Given the description of an element on the screen output the (x, y) to click on. 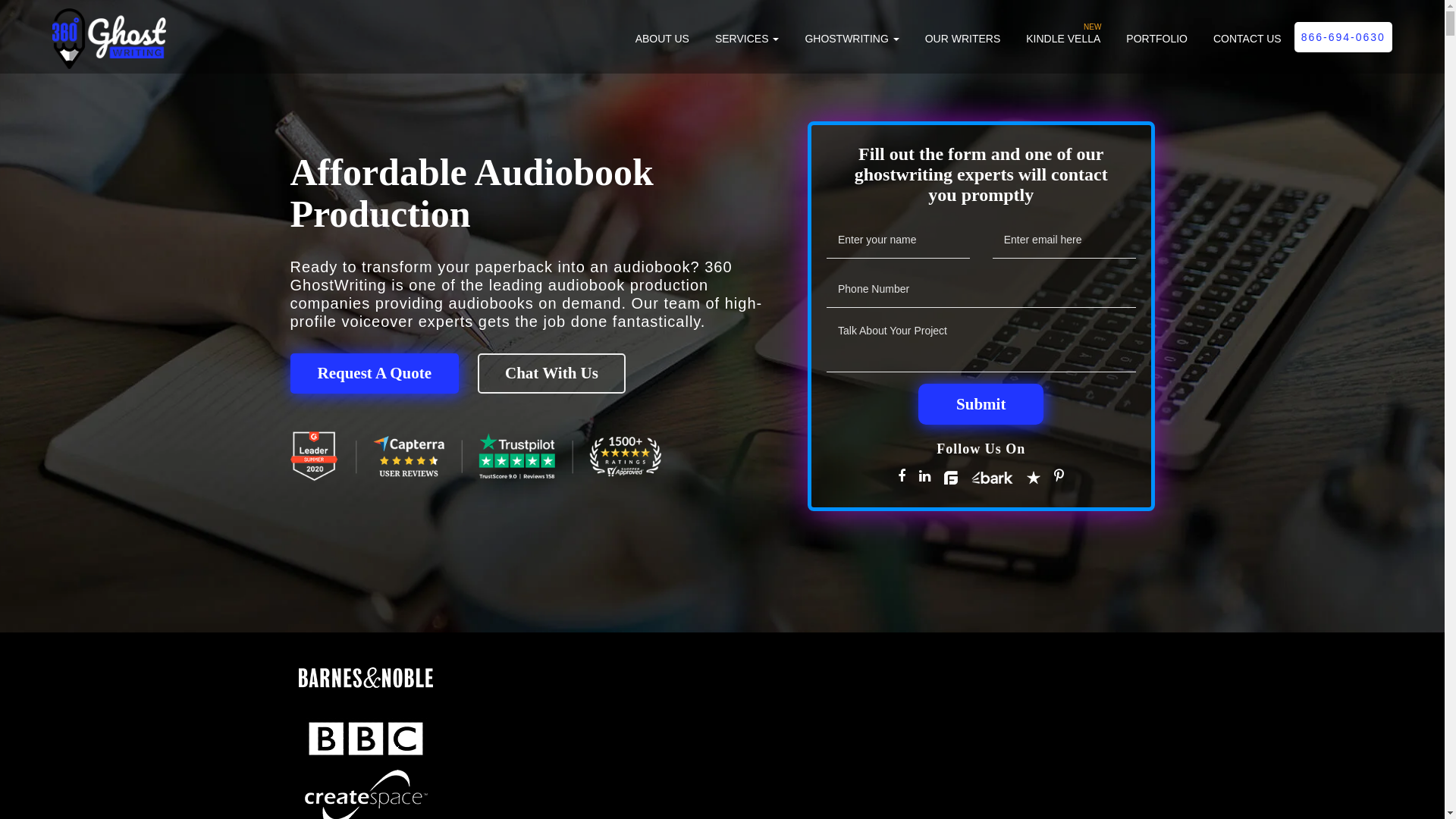
ABOUT US Element type: text (662, 45)
866-694-0630 Element type: text (1343, 36)
Chat With Us Element type: text (551, 373)
OUR WRITERS Element type: text (962, 45)
SERVICES Element type: text (746, 45)
Request A Quote Element type: text (373, 373)
GHOSTWRITING Element type: text (851, 45)
NEW
KINDLE VELLA Element type: text (1063, 45)
PORTFOLIO Element type: text (1156, 45)
CONTACT US Element type: text (1247, 45)
